Given the description of an element on the screen output the (x, y) to click on. 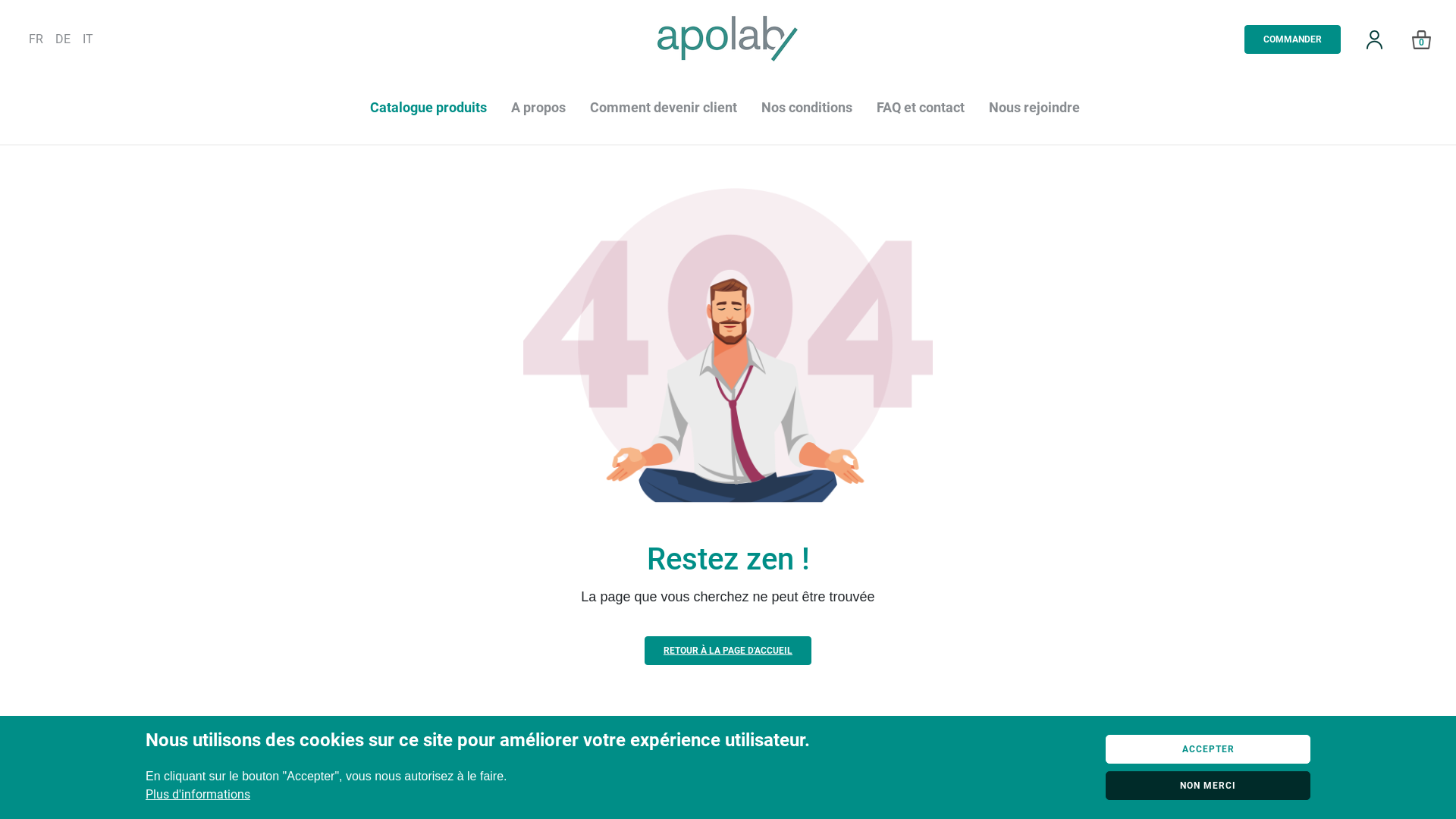
0 Element type: text (1421, 39)
IT Element type: text (87, 38)
Plus d'informations Element type: text (197, 794)
Comment devenir client Element type: text (663, 107)
DE Element type: text (62, 38)
FR Element type: text (35, 38)
Nos conditions Element type: text (806, 107)
NON MERCI Element type: text (1207, 785)
ACCEPTER Element type: text (1207, 748)
Conditions d'utilisation Element type: text (664, 741)
A propos Element type: text (538, 107)
Nous rejoindre Element type: text (1033, 107)
FAQ et contact Element type: text (920, 107)
COMMANDER Element type: text (1292, 39)
Catalogue produits Element type: text (428, 107)
